Given the description of an element on the screen output the (x, y) to click on. 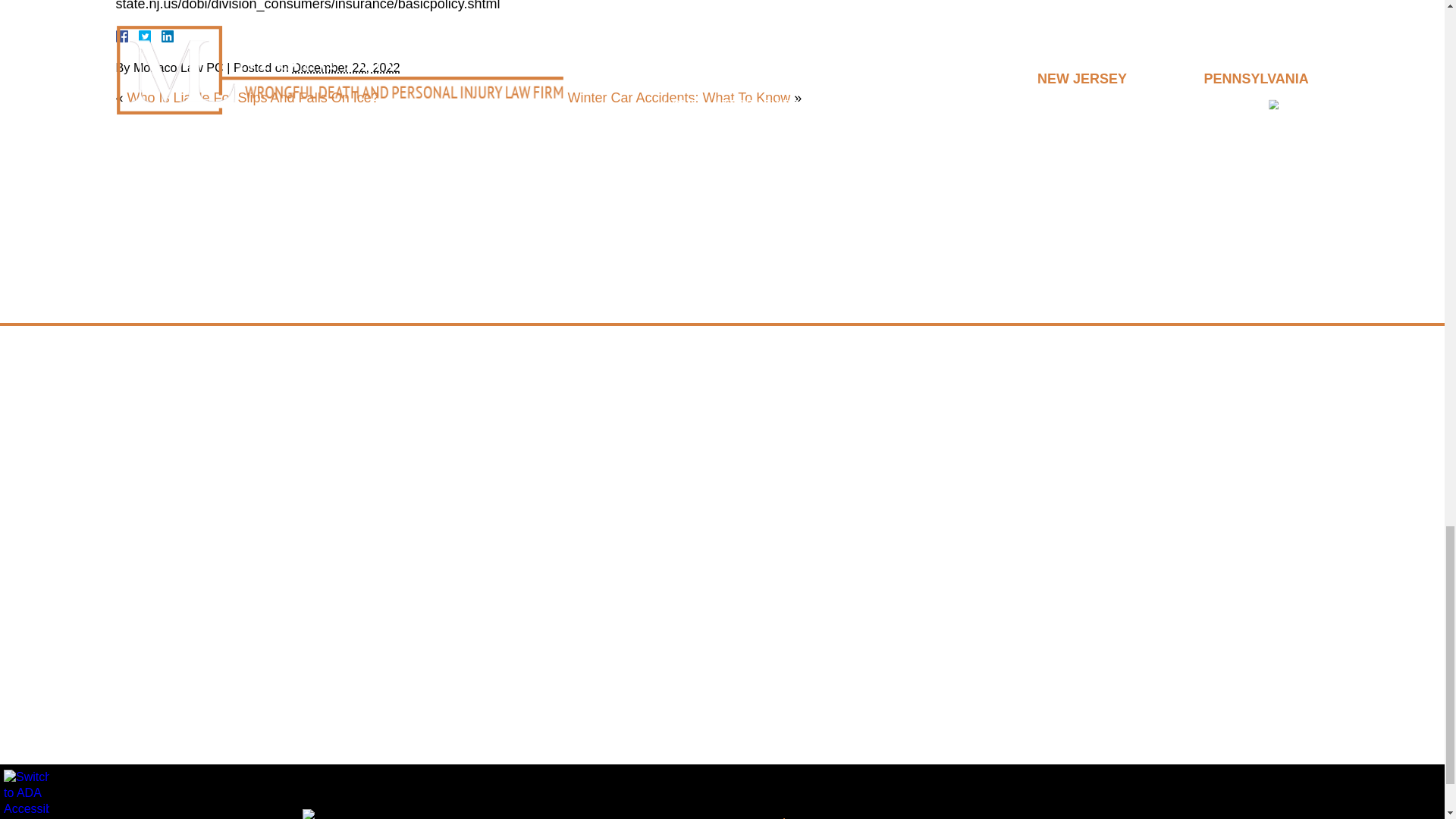
LinkedIn (160, 36)
Facebook (139, 36)
Twitter (149, 36)
2022-12-22T03:00:11-0800 (345, 67)
